Given the description of an element on the screen output the (x, y) to click on. 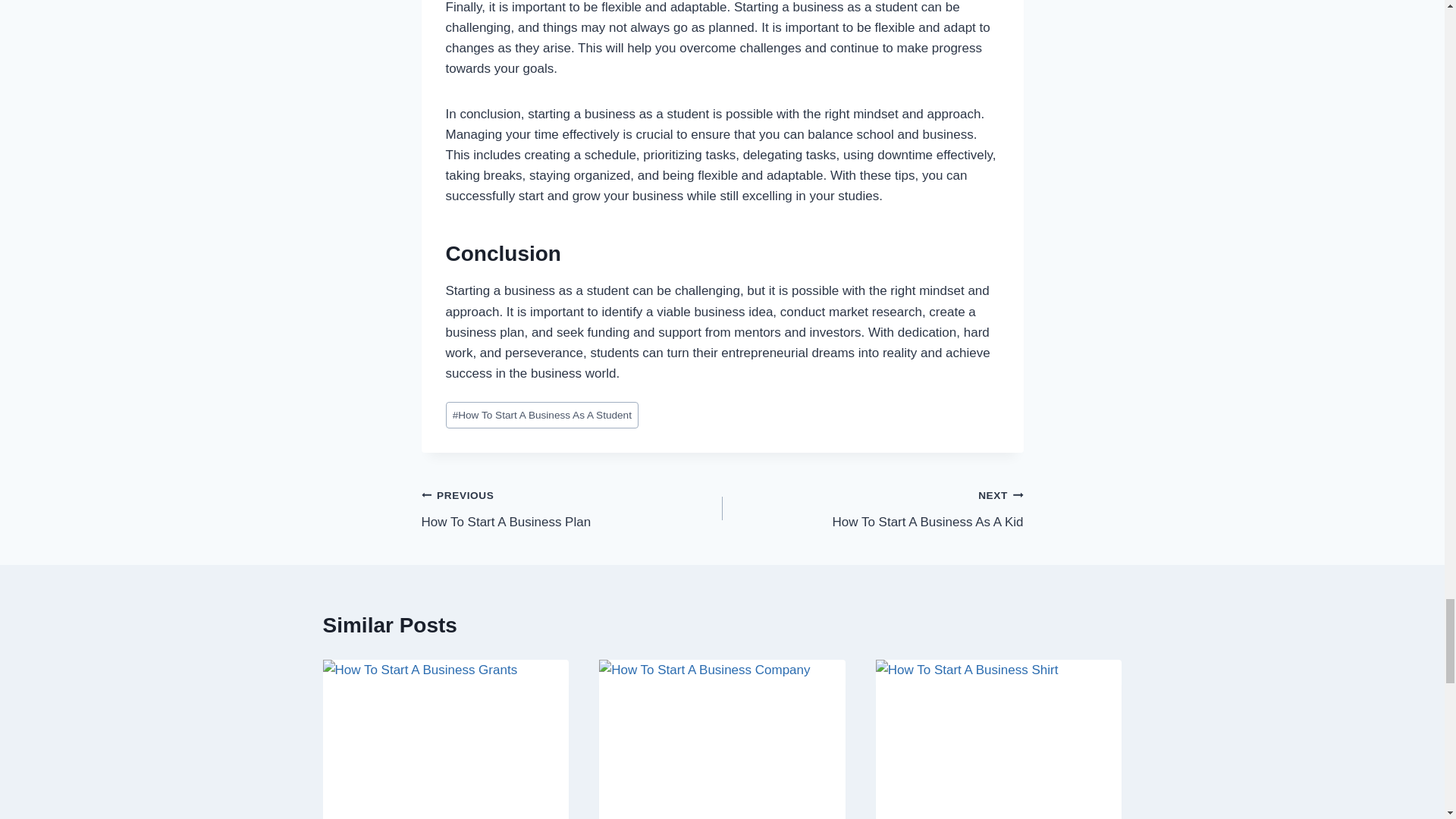
How To Start A Business Company 5 (572, 508)
How To Start A Business Shirt 7 (721, 739)
How To Start A Business As A Student (999, 739)
How To Start A Business Grants 3 (542, 415)
